Given the description of an element on the screen output the (x, y) to click on. 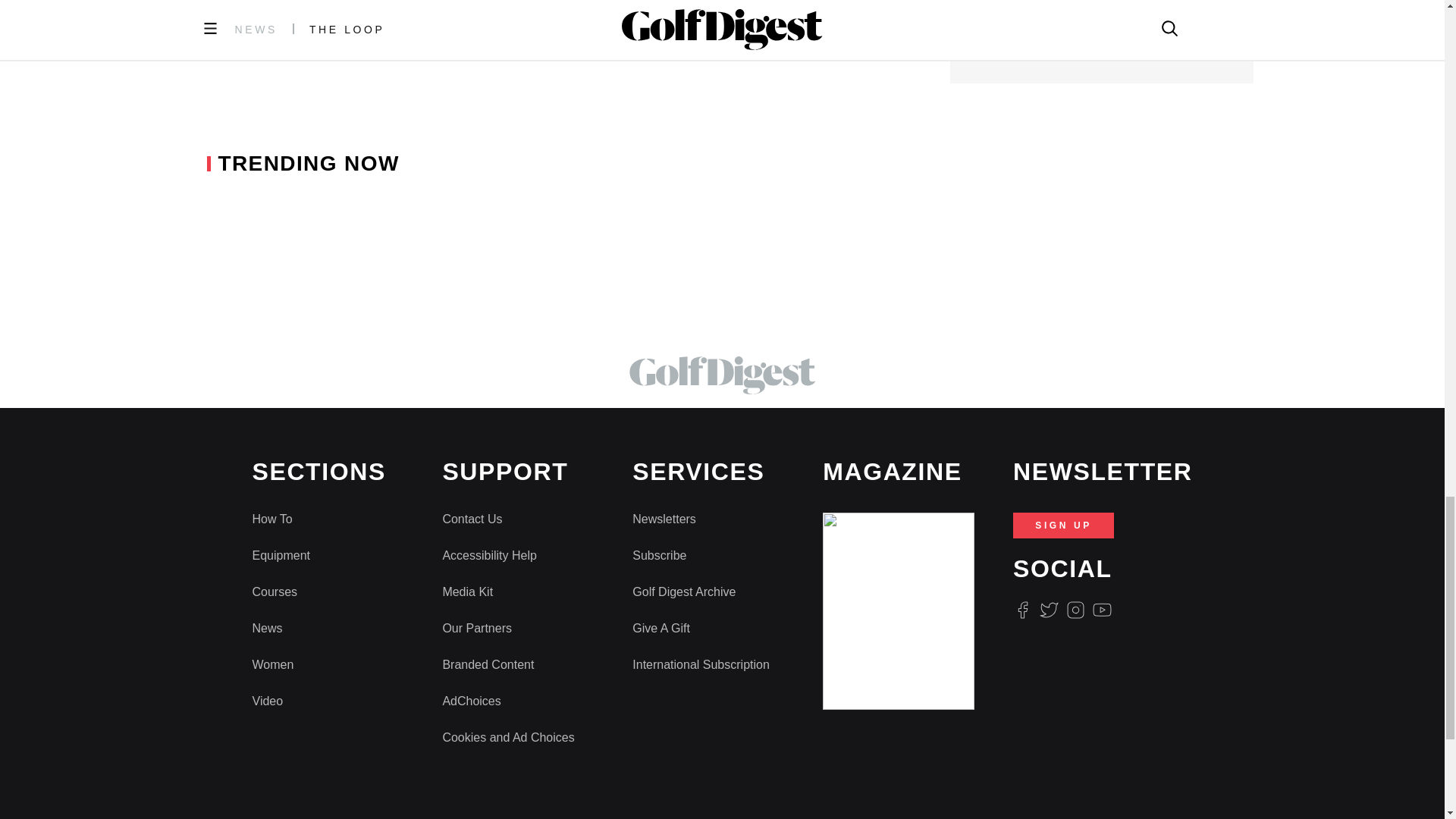
Share on Twitter (472, 3)
Facebook Logo (1022, 609)
Share on LinkedIn (506, 3)
Youtube Icon (1102, 609)
Instagram Logo (1074, 609)
Share on Facebook (432, 3)
Twitter Logo (1048, 609)
